Given the description of an element on the screen output the (x, y) to click on. 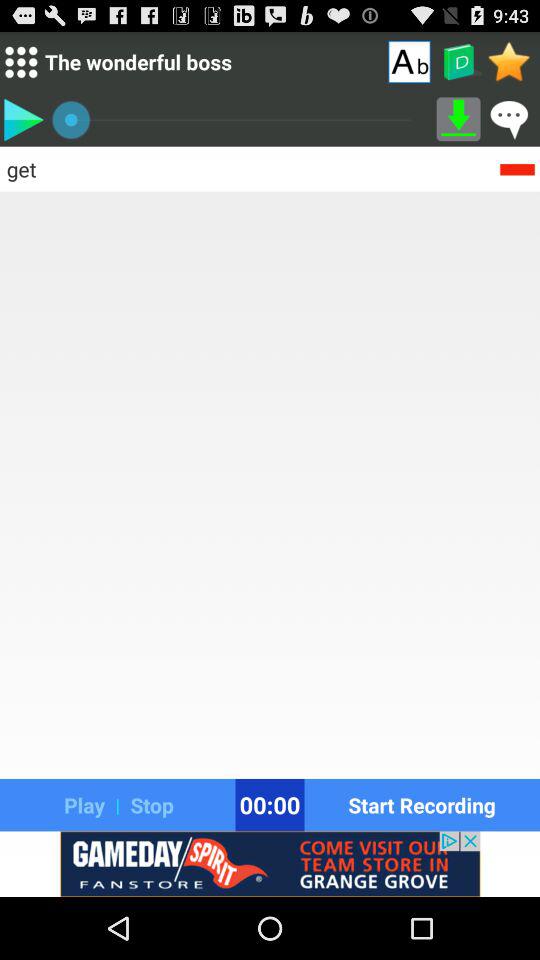
go to option (458, 119)
